Given the description of an element on the screen output the (x, y) to click on. 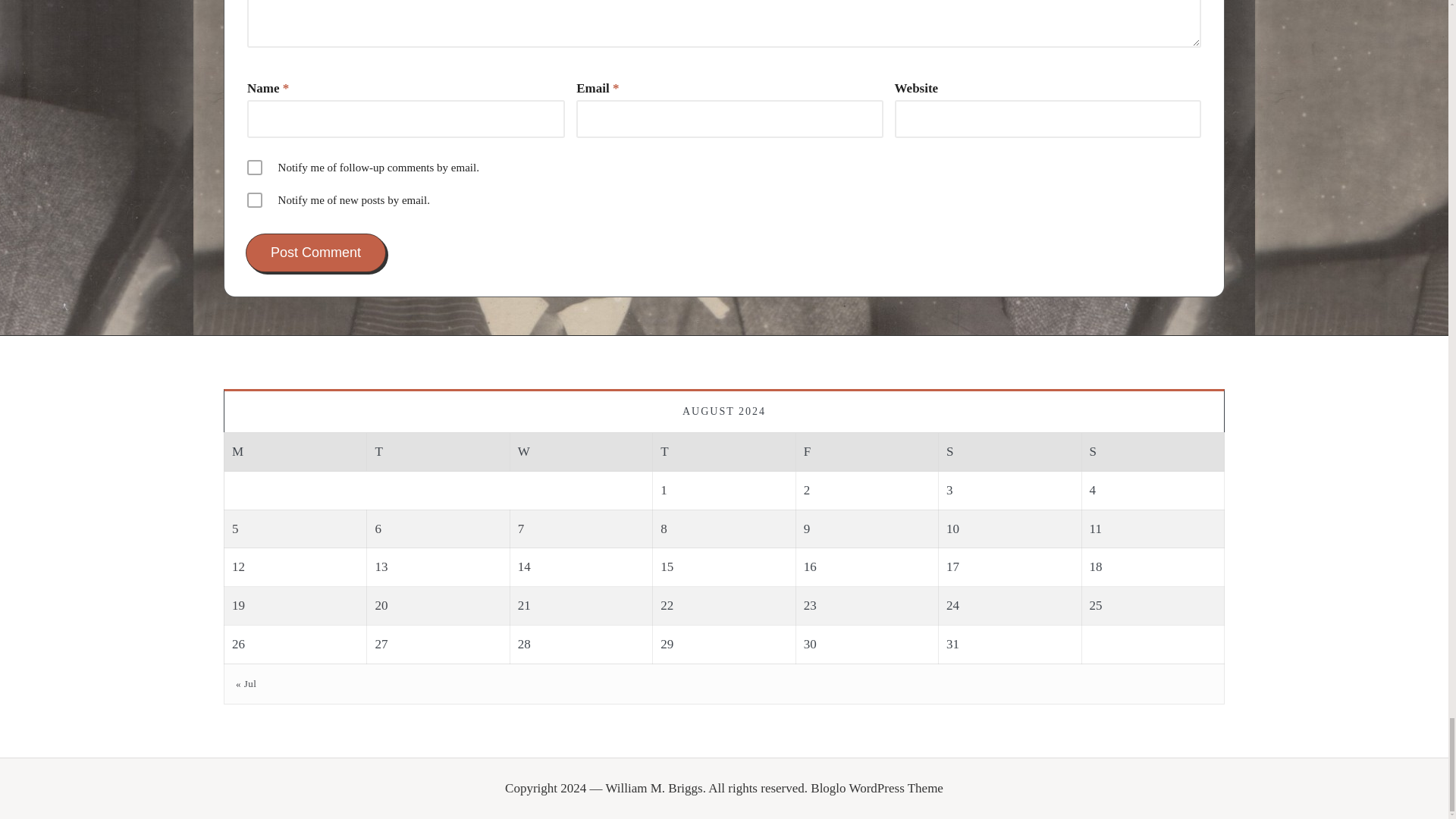
subscribe (254, 200)
Post Comment (315, 252)
Tuesday (437, 452)
Monday (295, 452)
subscribe (254, 167)
Wednesday (580, 452)
